Given the description of an element on the screen output the (x, y) to click on. 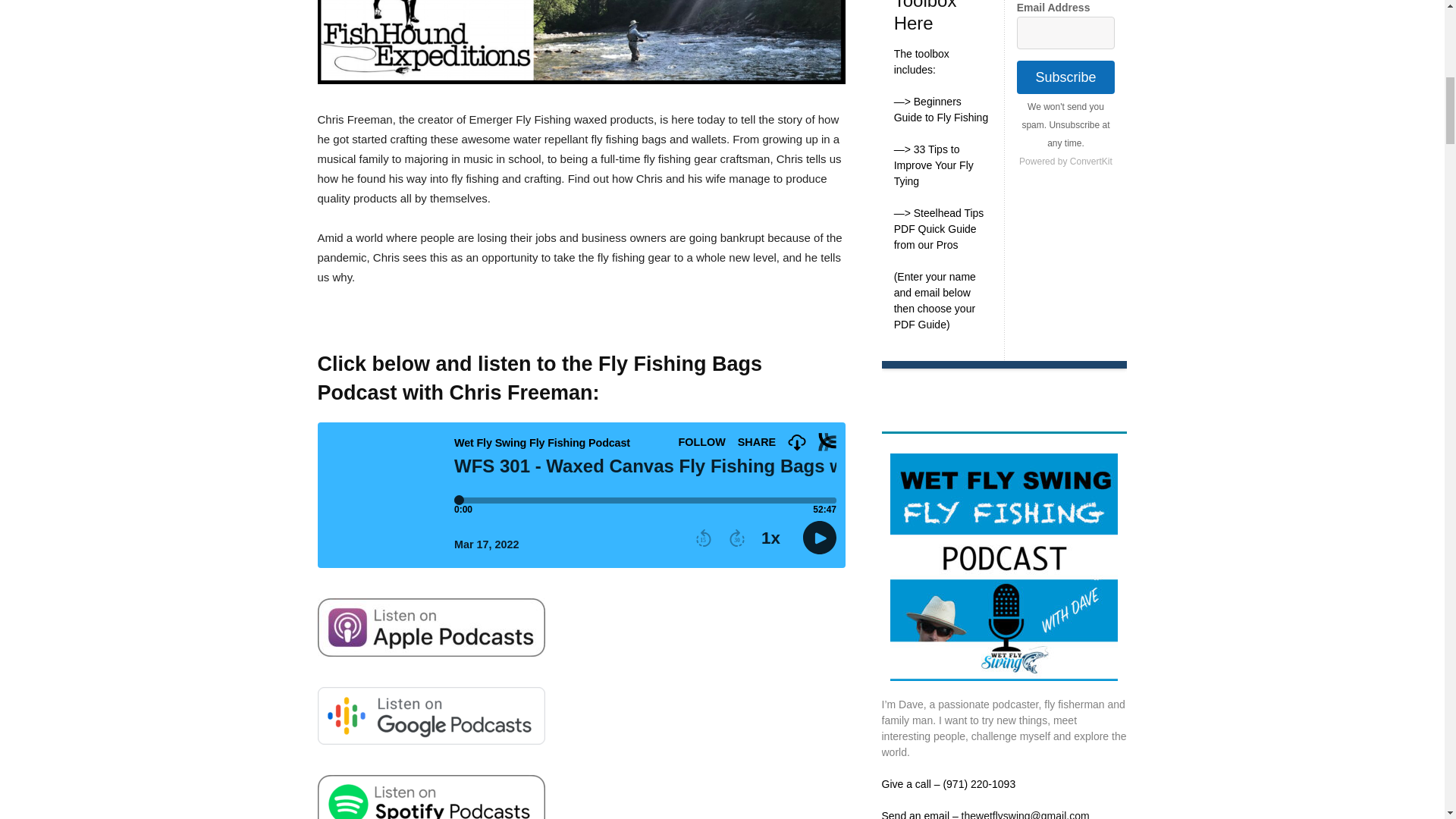
Embed Player (580, 495)
